Given the description of an element on the screen output the (x, y) to click on. 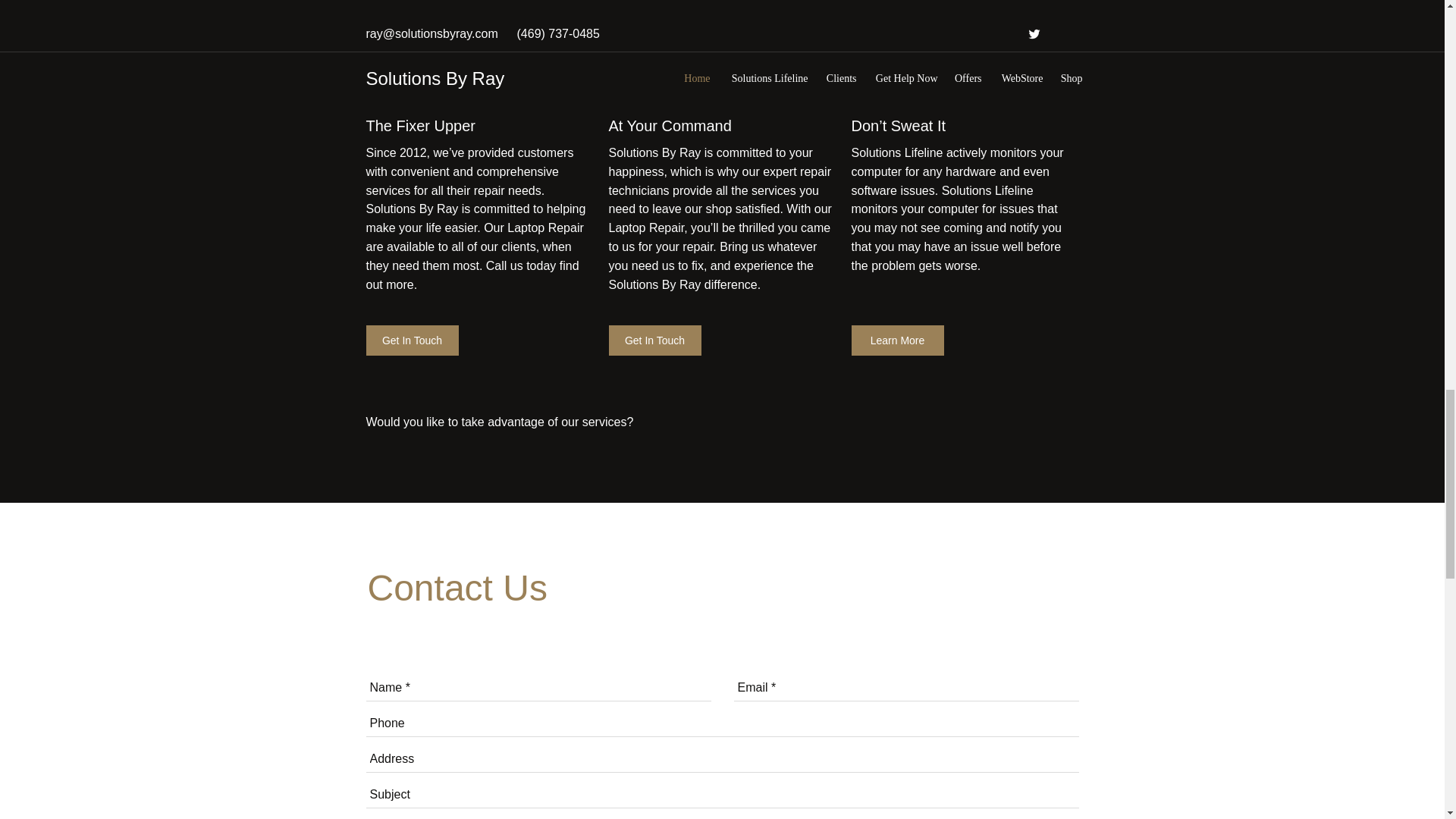
Hand on Laptop  (479, 23)
Learn More (896, 340)
Get In Touch (411, 340)
GL.jpg (964, 23)
Computer Circuit Board Macro (721, 23)
Get In Touch (654, 340)
